Given the description of an element on the screen output the (x, y) to click on. 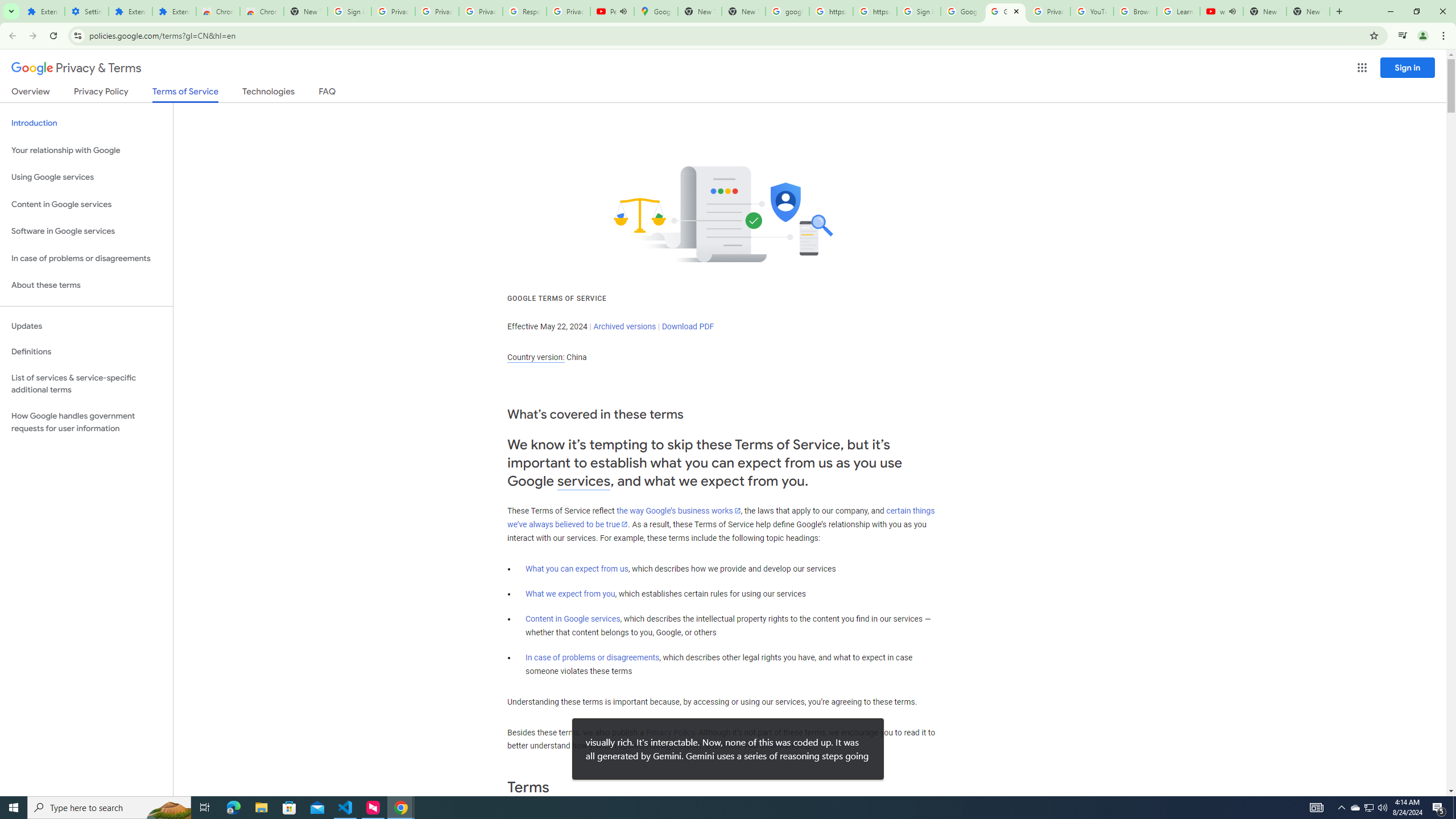
update, manage, export, and delete your information (714, 746)
Download PDF (687, 326)
How Google handles government requests for user information (86, 422)
Archived versions (624, 326)
List of services & service-specific additional terms (86, 383)
About these terms (86, 284)
